Given the description of an element on the screen output the (x, y) to click on. 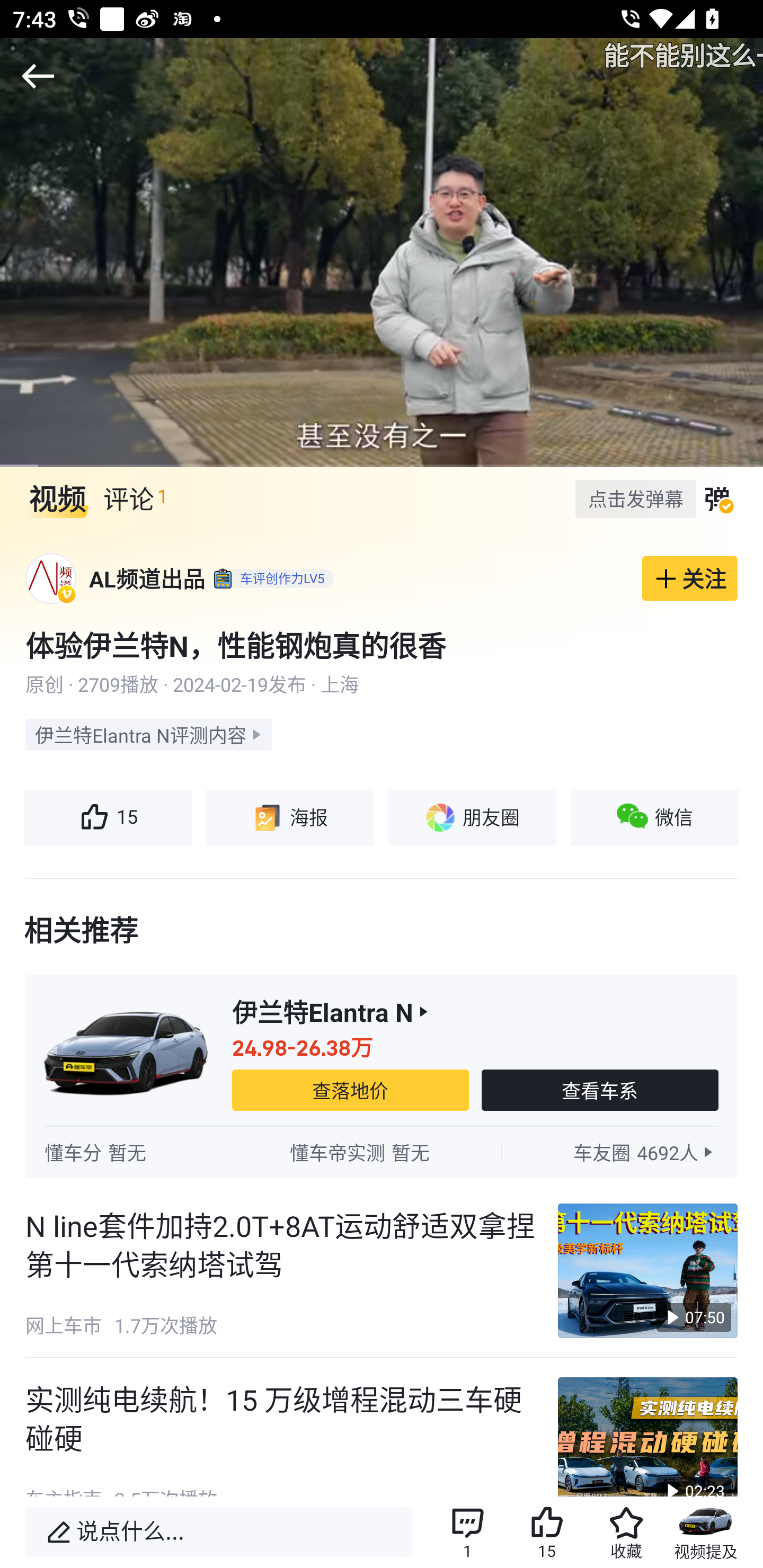
0.0 (381, 252)
 (38, 75)
视频 (57, 499)
评论 1 (135, 499)
点击发弹幕 (635, 498)
 关注 (689, 578)
AL频道出品 (147, 578)
车评创作力LV5 (271, 578)
体验伊兰特N，性能钢炮真的很香 (381, 644)
伊兰特Elantra N评测内容  (148, 734)
15 (107, 817)
海报 (289, 817)
朋友圈 (472, 817)
微信 (654, 817)
查落地价 (350, 1089)
查看车系 (599, 1089)
懂车分 暂无 懂车帝实测 暂无 车友圈 4692人  (381, 1151)
车友圈 4692人  (645, 1152)
实测纯电续航！15 万级增程混动三车硬碰硬 车主指南 3.5万次播放  02:23 (381, 1426)
 1 (467, 1531)
15 (546, 1531)
收藏 (625, 1531)
视频提及 (705, 1531)
 说点什么... (218, 1531)
